Given the description of an element on the screen output the (x, y) to click on. 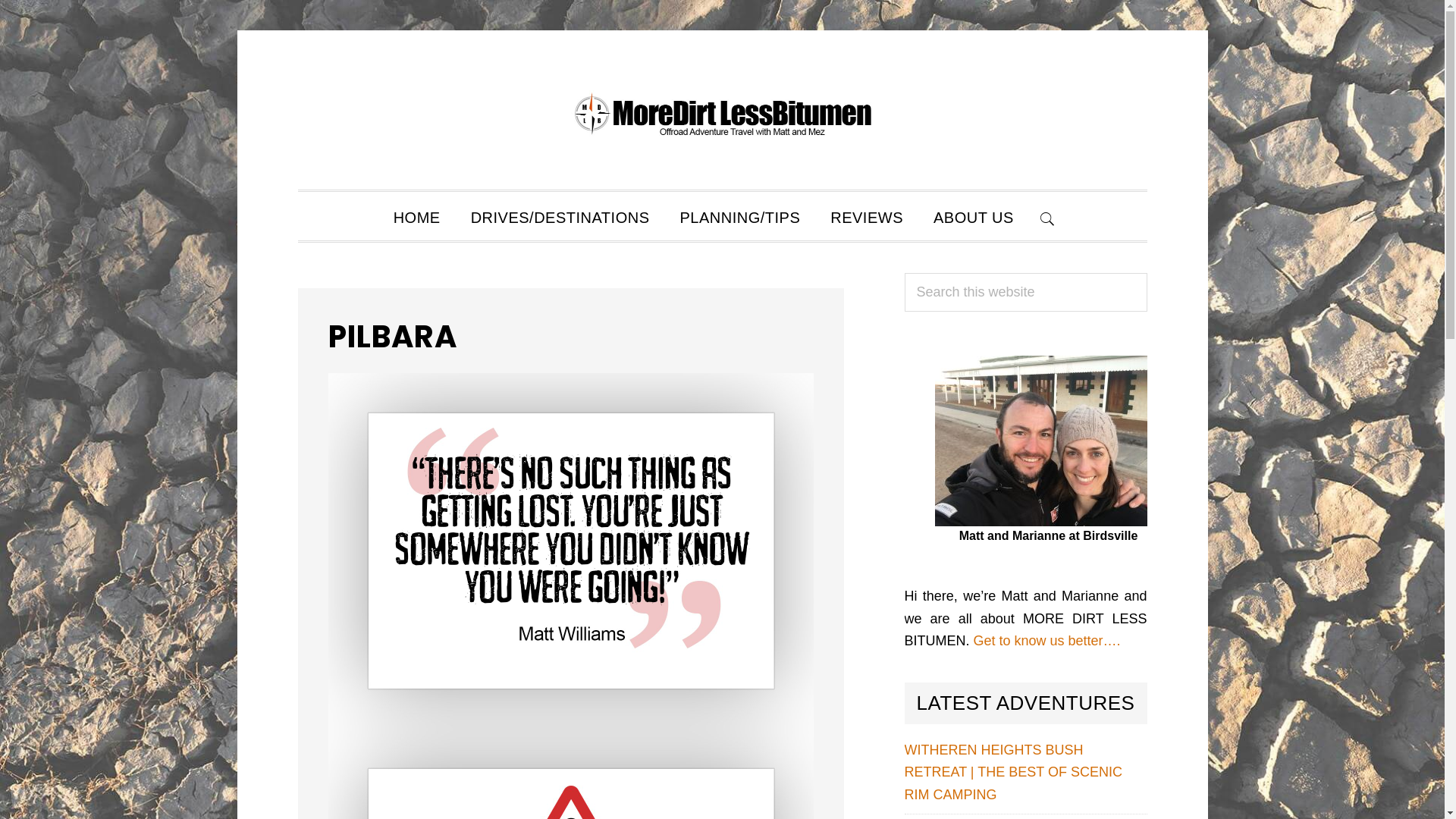
SHOW SEARCH Element type: text (1047, 215)
HOME Element type: text (416, 215)
PLANNING/TIPS Element type: text (739, 215)
DRIVES/DESTINATIONS Element type: text (560, 215)
MORE DIRT LESS BITUMEN Element type: text (721, 113)
Skip to primary navigation Element type: text (297, 30)
Search Element type: text (1146, 272)
ABOUT US Element type: text (973, 215)
REVIEWS Element type: text (866, 215)
